Given the description of an element on the screen output the (x, y) to click on. 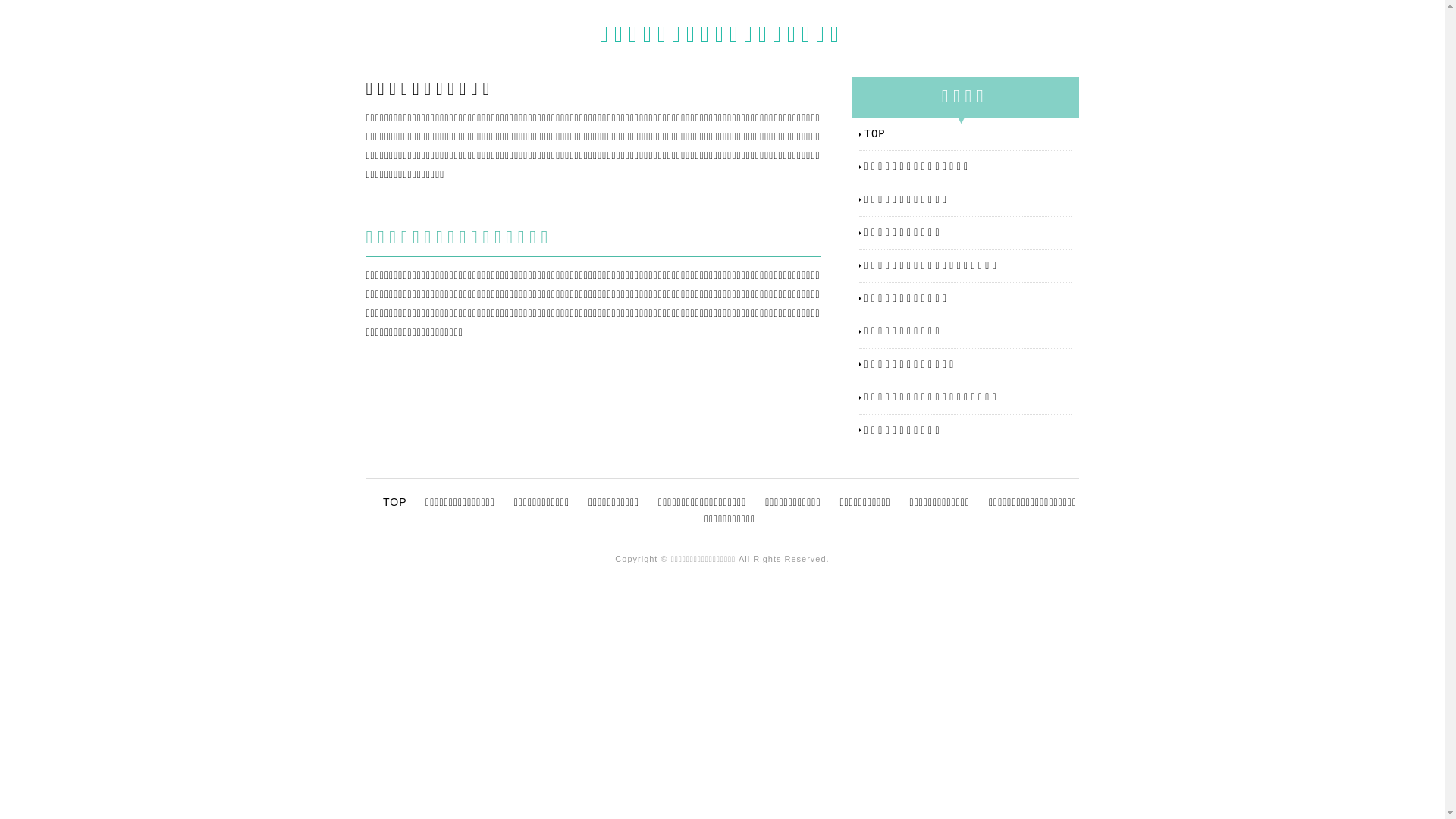
TOP Element type: text (967, 134)
TOP Element type: text (394, 501)
